Given the description of an element on the screen output the (x, y) to click on. 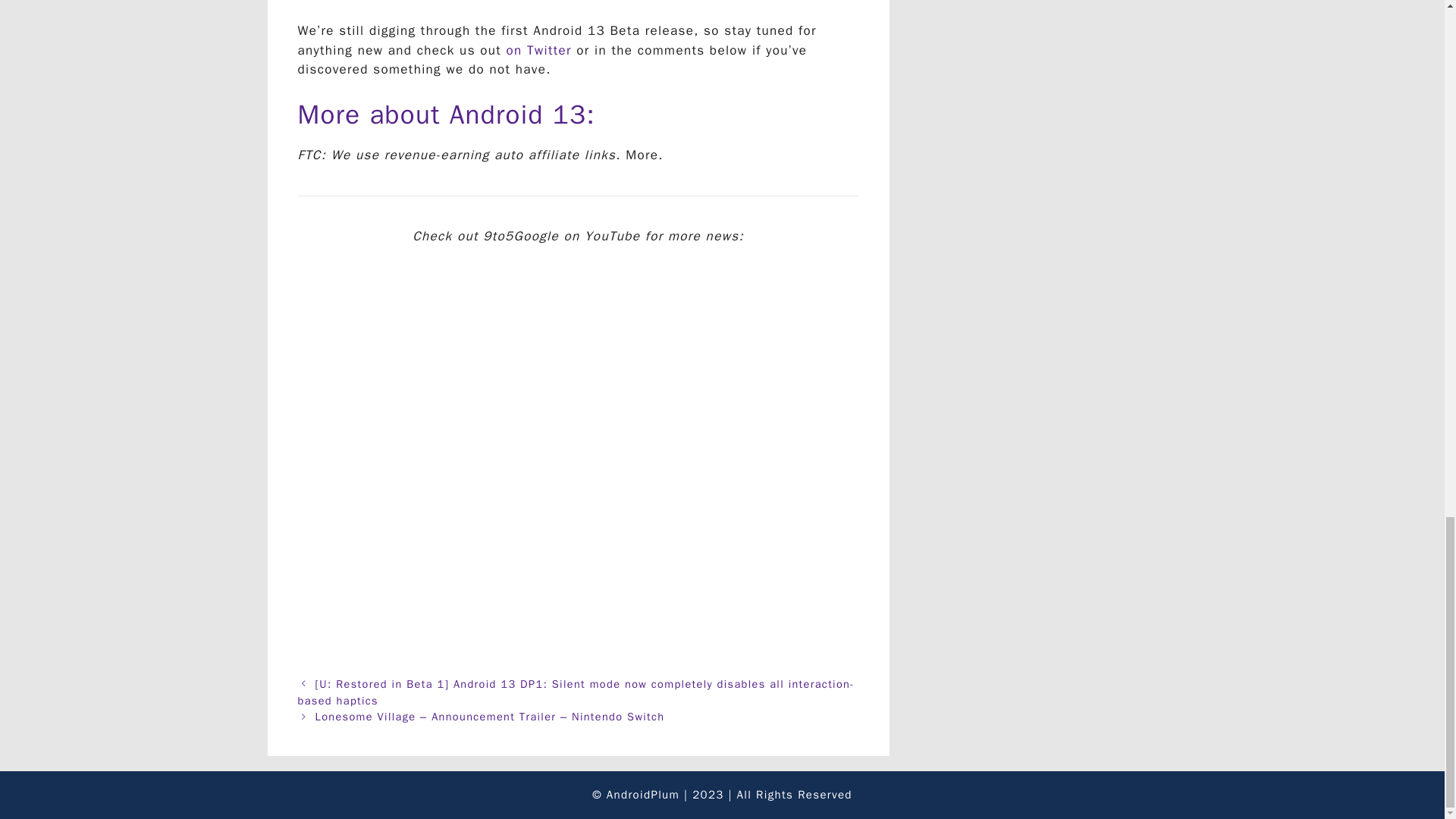
Scroll back to top (1406, 112)
on Twitter (539, 50)
